Given the description of an element on the screen output the (x, y) to click on. 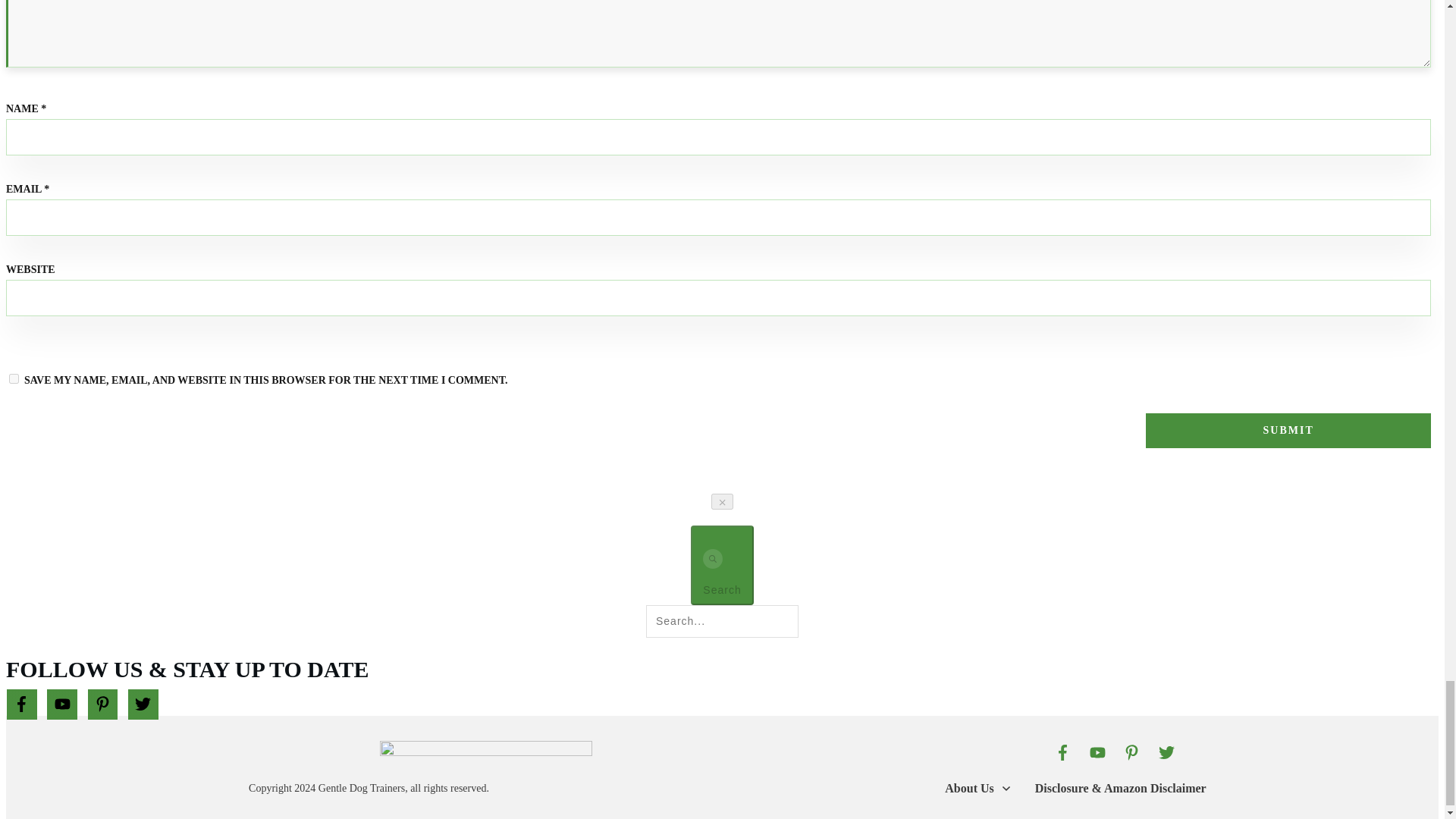
yes (13, 378)
